Given the description of an element on the screen output the (x, y) to click on. 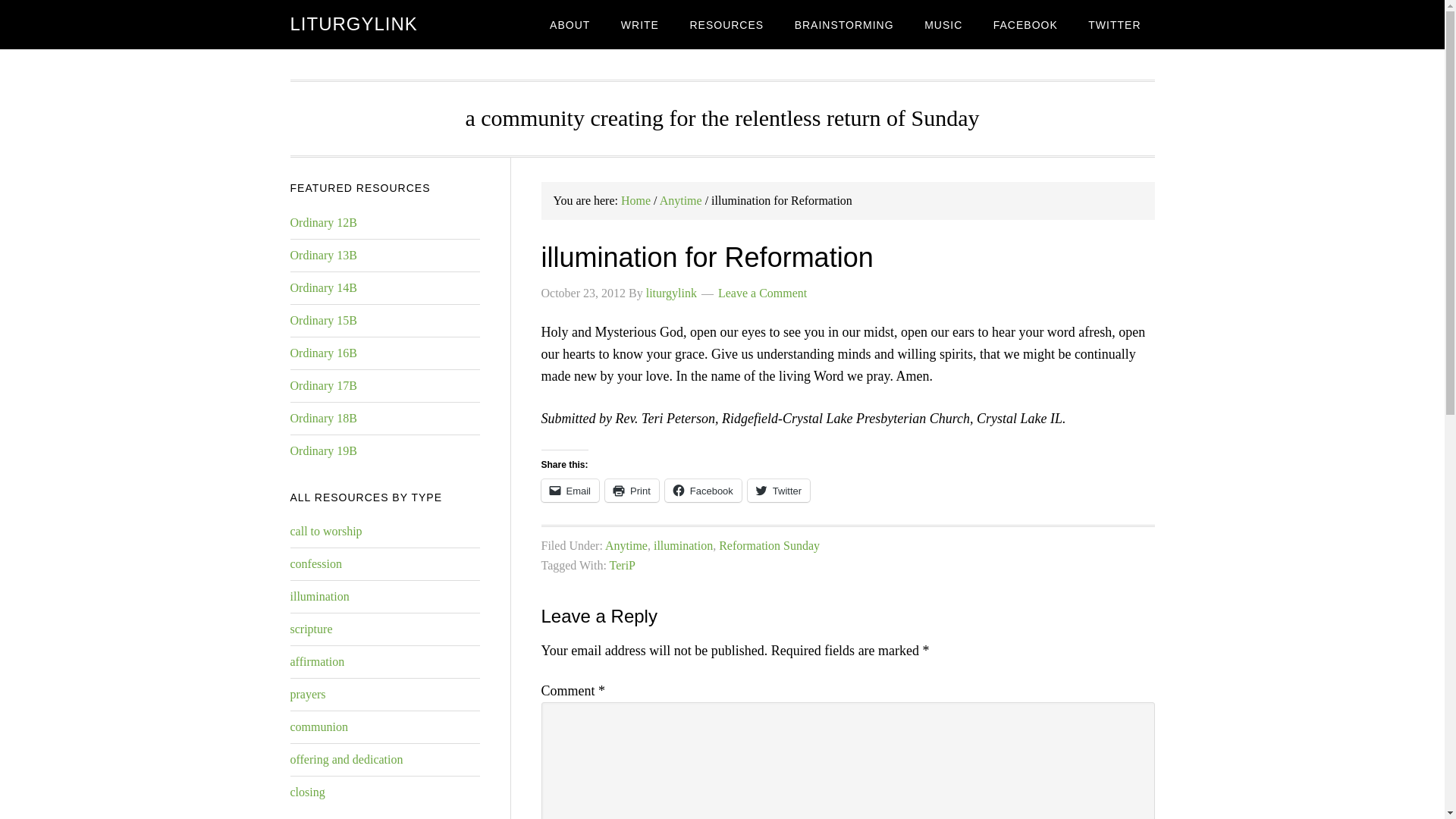
Twitter (778, 490)
LITURGYLINK (352, 23)
Reformation Sunday (769, 545)
Anytime (680, 200)
illumination (319, 595)
Ordinary 17B (322, 385)
TWITTER (1114, 24)
Ordinary 13B (322, 254)
Ordinary 19B (322, 450)
Ordinary 15B (322, 319)
scripture (310, 628)
Email (570, 490)
confession (314, 563)
liturgylink (671, 292)
Ordinary 18B (322, 418)
